Given the description of an element on the screen output the (x, y) to click on. 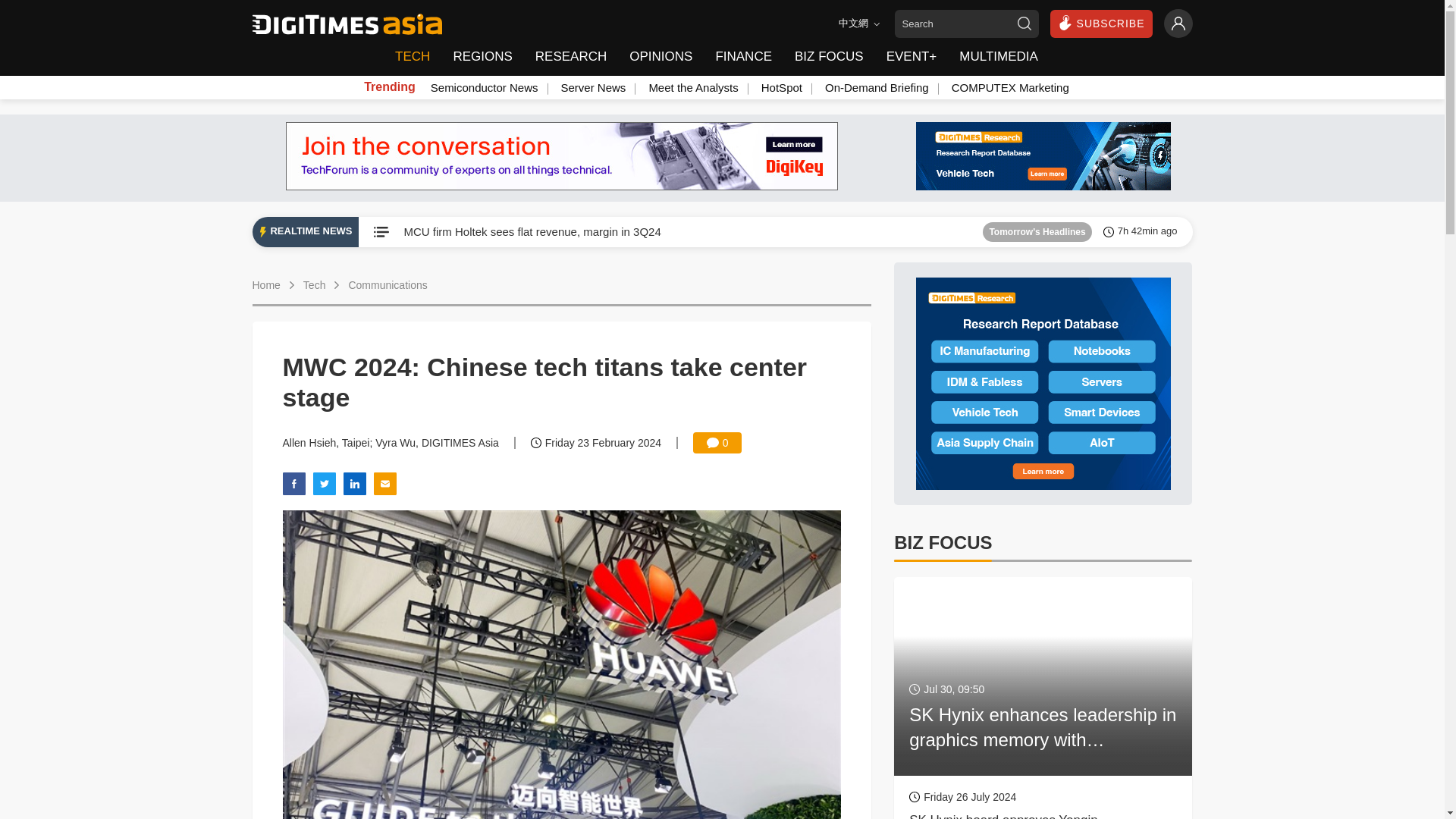
REGIONS (481, 56)
TECH (417, 56)
RESEARCH (570, 56)
SUBSCRIBE (1101, 22)
